Given the description of an element on the screen output the (x, y) to click on. 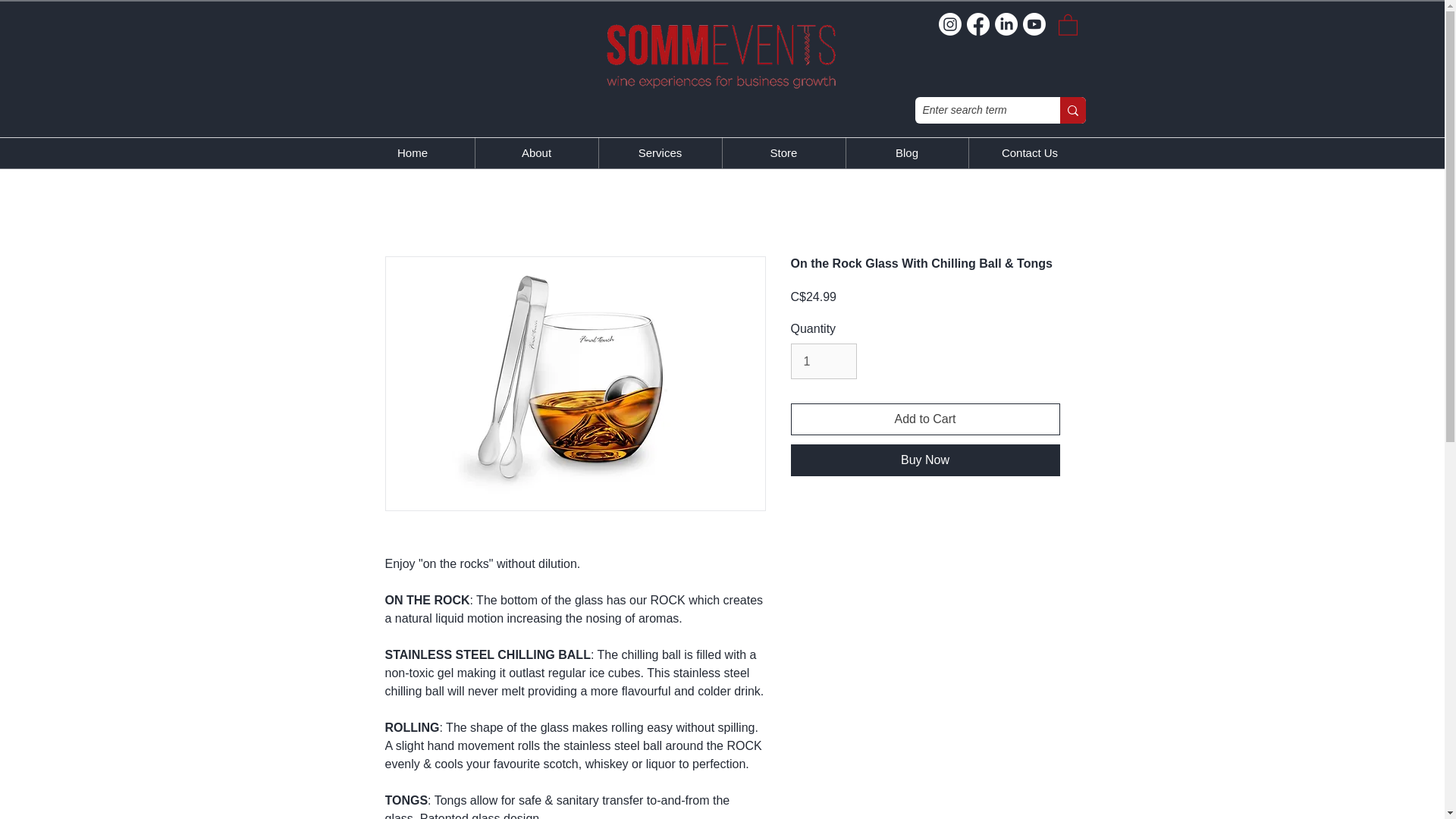
Blog (906, 152)
SE-TransparentLogoTemp.png (720, 52)
Buy Now (924, 459)
Home (412, 152)
1 (823, 360)
Contact Us (1029, 152)
Add to Cart (924, 418)
